Given the description of an element on the screen output the (x, y) to click on. 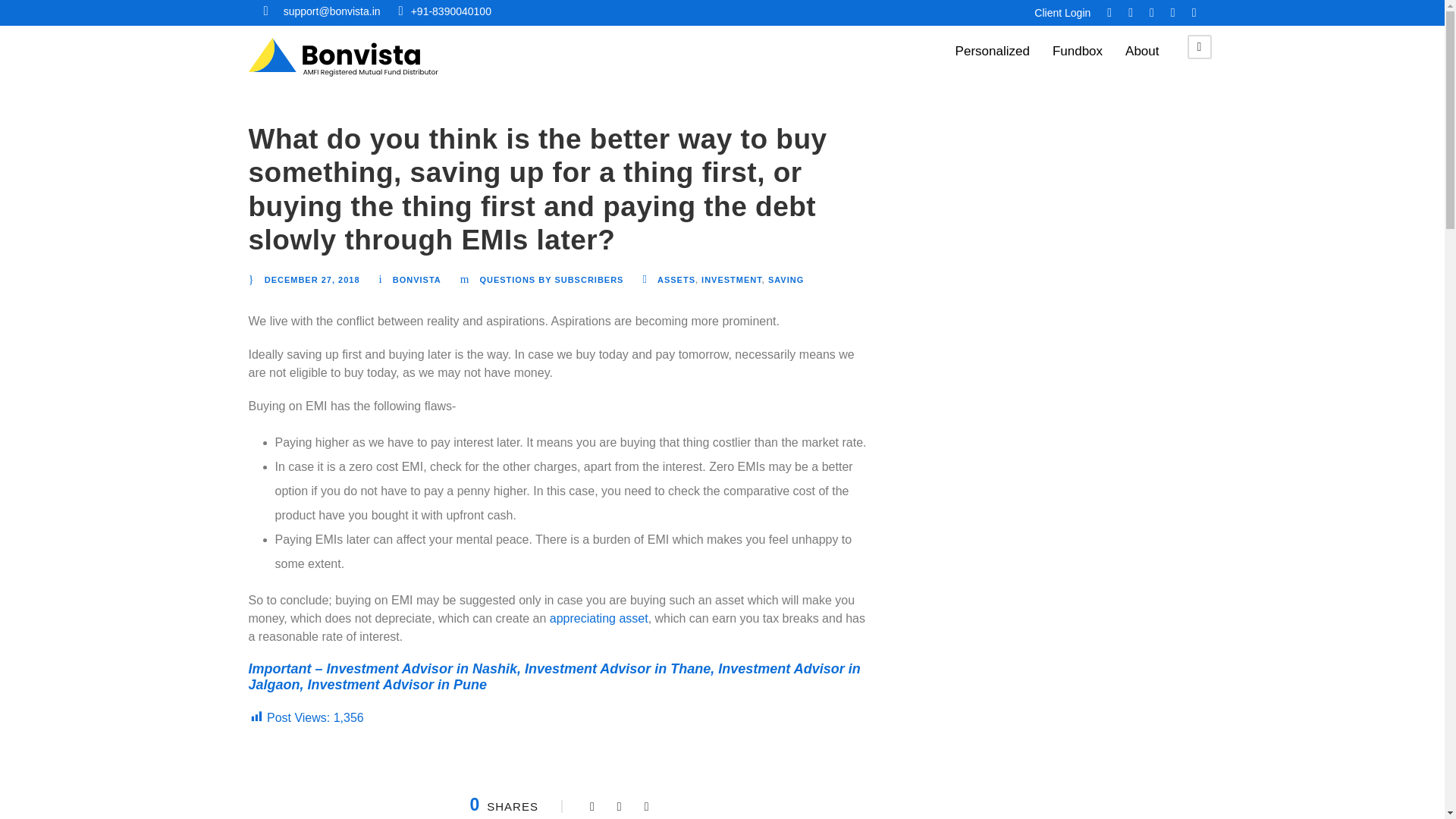
Client Login (1061, 12)
Personalized (992, 55)
ASSETS (676, 279)
Posts by Bonvista (417, 279)
Fundbox (1077, 55)
DECEMBER 27, 2018 (311, 279)
INVESTMENT (731, 279)
QUESTIONS BY SUBSCRIBERS (551, 279)
appreciating asset (598, 617)
About (1141, 55)
SAVING (785, 279)
BONVISTA (417, 279)
